Given the description of an element on the screen output the (x, y) to click on. 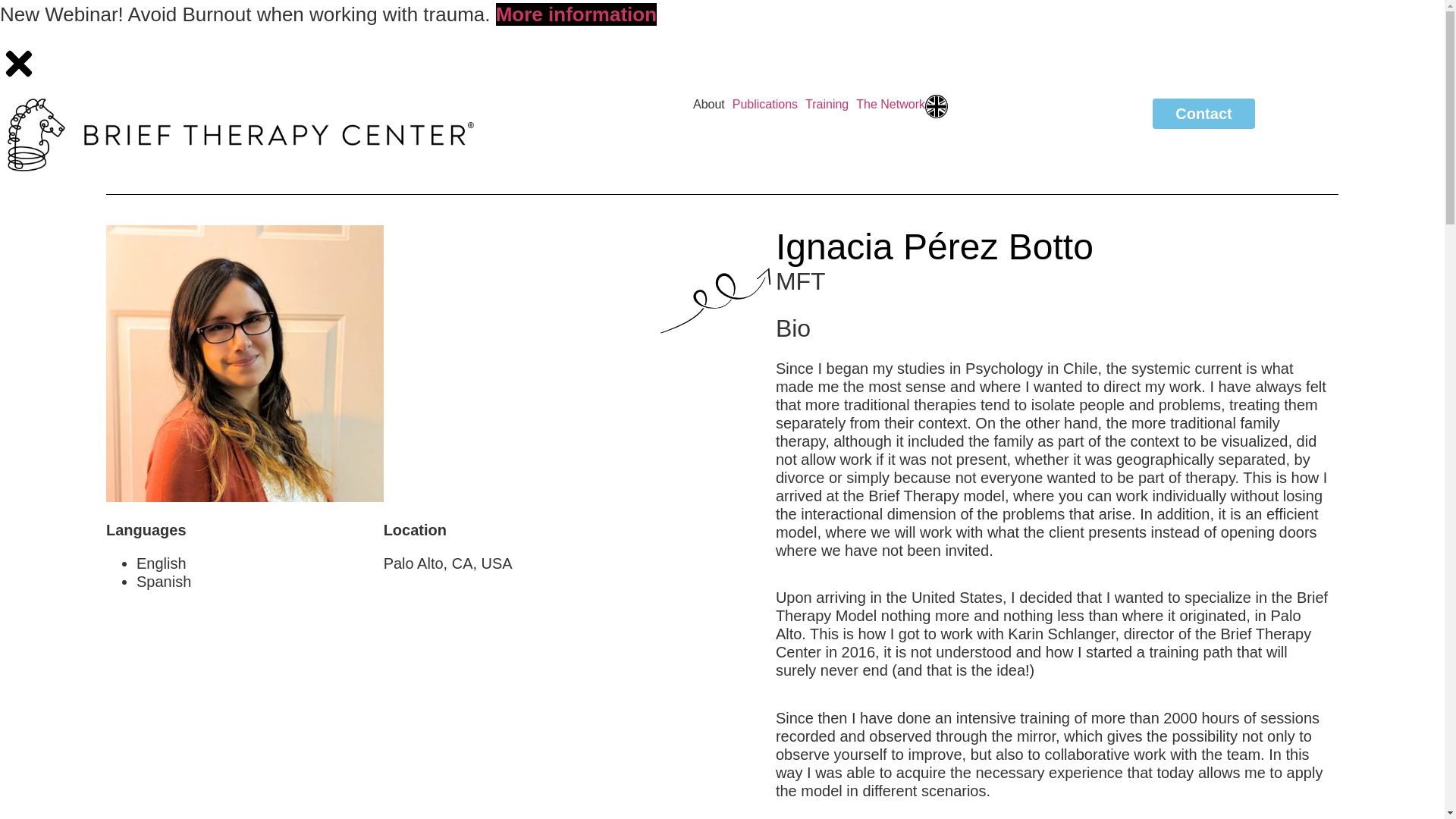
Training (830, 104)
More information (576, 14)
Contact (1203, 113)
About (712, 104)
Publications (768, 104)
The Network (890, 104)
